Given the description of an element on the screen output the (x, y) to click on. 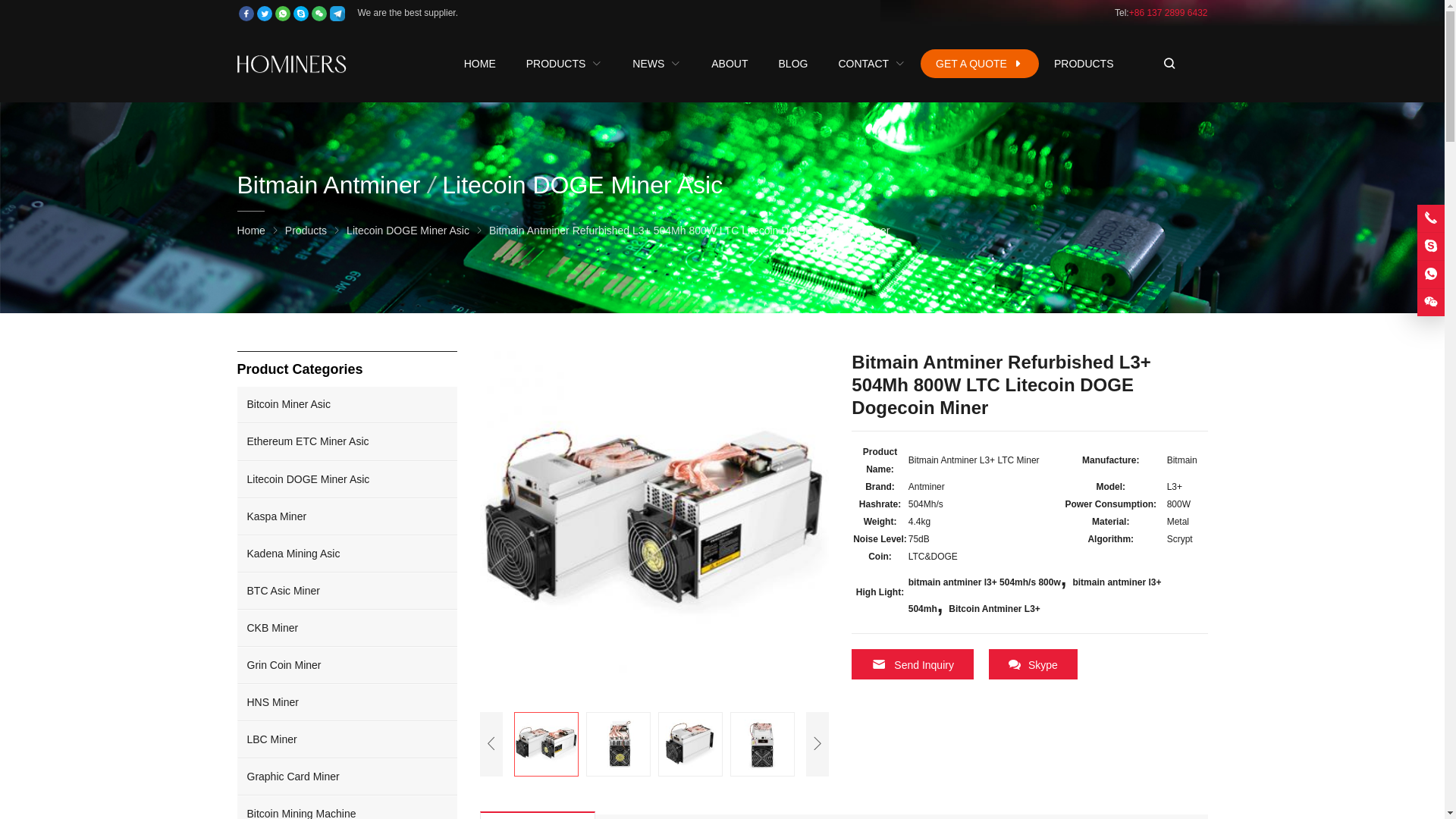
PRODUCTS (1084, 63)
Home (249, 230)
Phone (1430, 217)
HOMINERS (290, 63)
Facebook (244, 13)
WeChat QR Code (1430, 301)
GET A QUOTE (979, 63)
PRODUCTS (564, 63)
Products (305, 230)
Litecoin DOGE Miner Asic (407, 230)
Skype (1430, 245)
Skype (299, 13)
WhatsApp (1430, 273)
Send Inquiry (912, 664)
Skype (1032, 664)
